Given the description of an element on the screen output the (x, y) to click on. 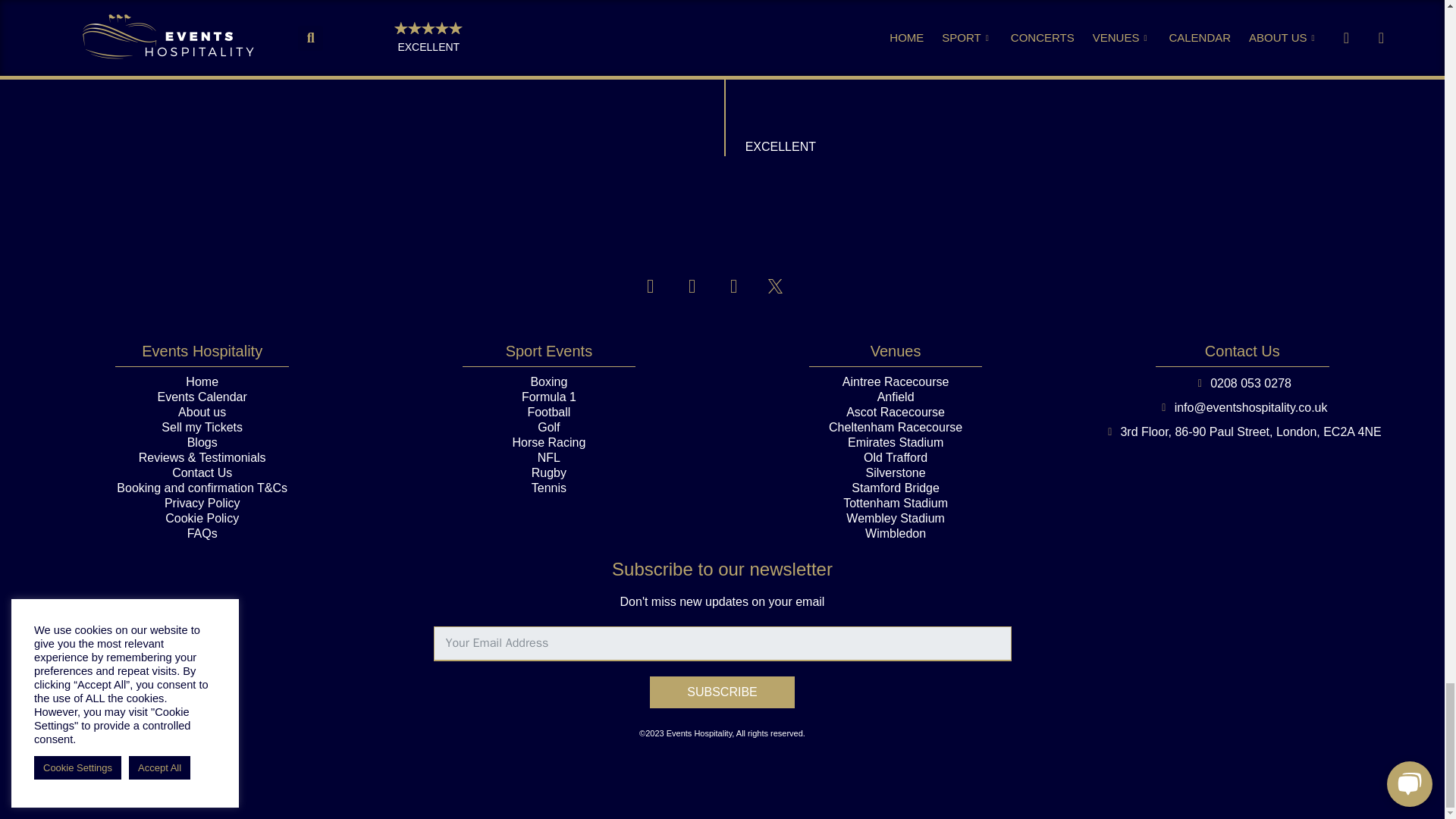
Review Rating (800, 75)
Events Hospitality (586, 75)
Club Wembley OTA-Logo (724, 215)
